Given the description of an element on the screen output the (x, y) to click on. 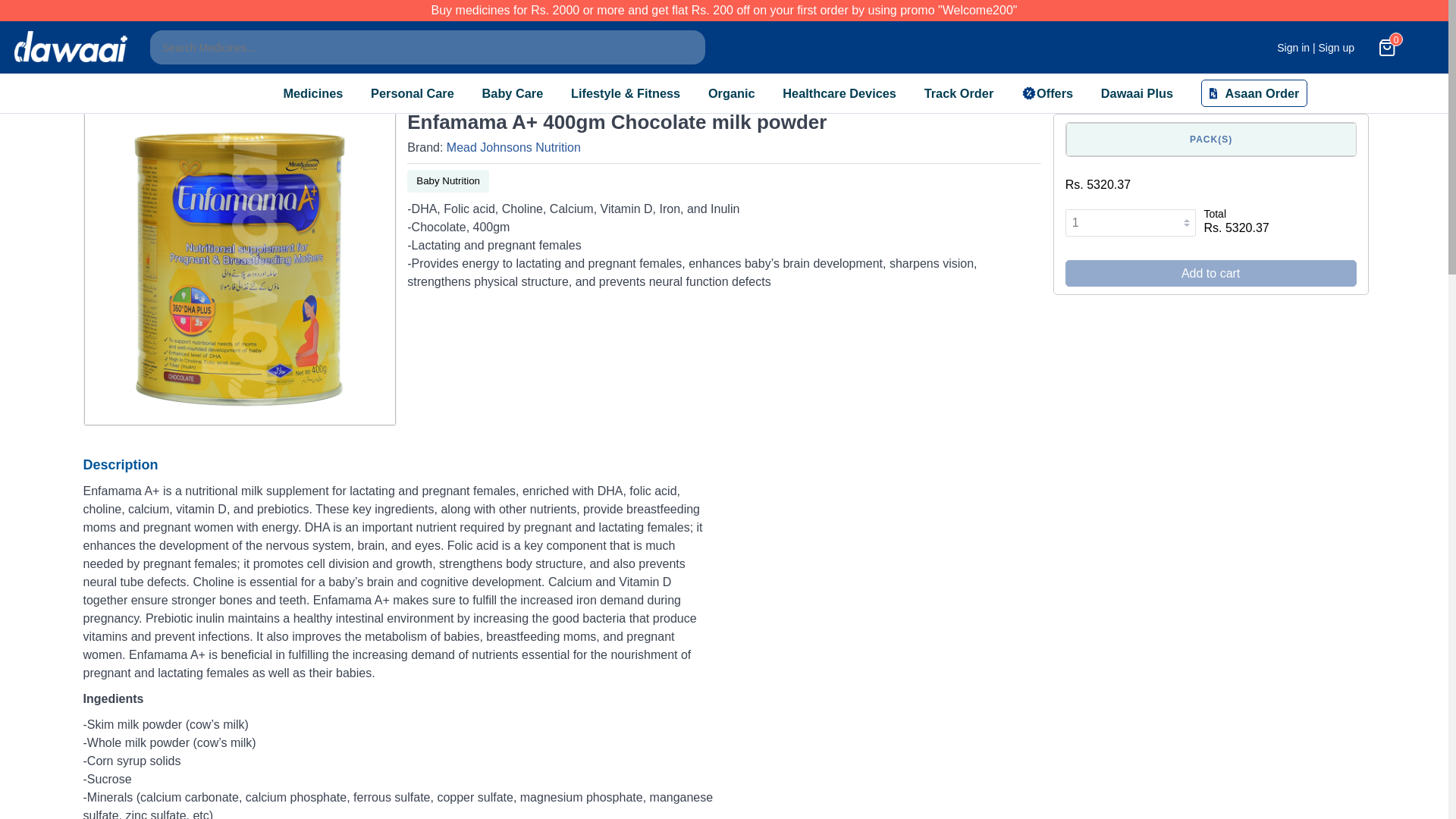
Baby Care (512, 92)
Offers (1047, 92)
Organic (731, 92)
Healthcare Devices (839, 92)
Medicines (312, 92)
Personal Care (412, 92)
Dawaai Plus (1136, 92)
Track Order (959, 92)
